Given the description of an element on the screen output the (x, y) to click on. 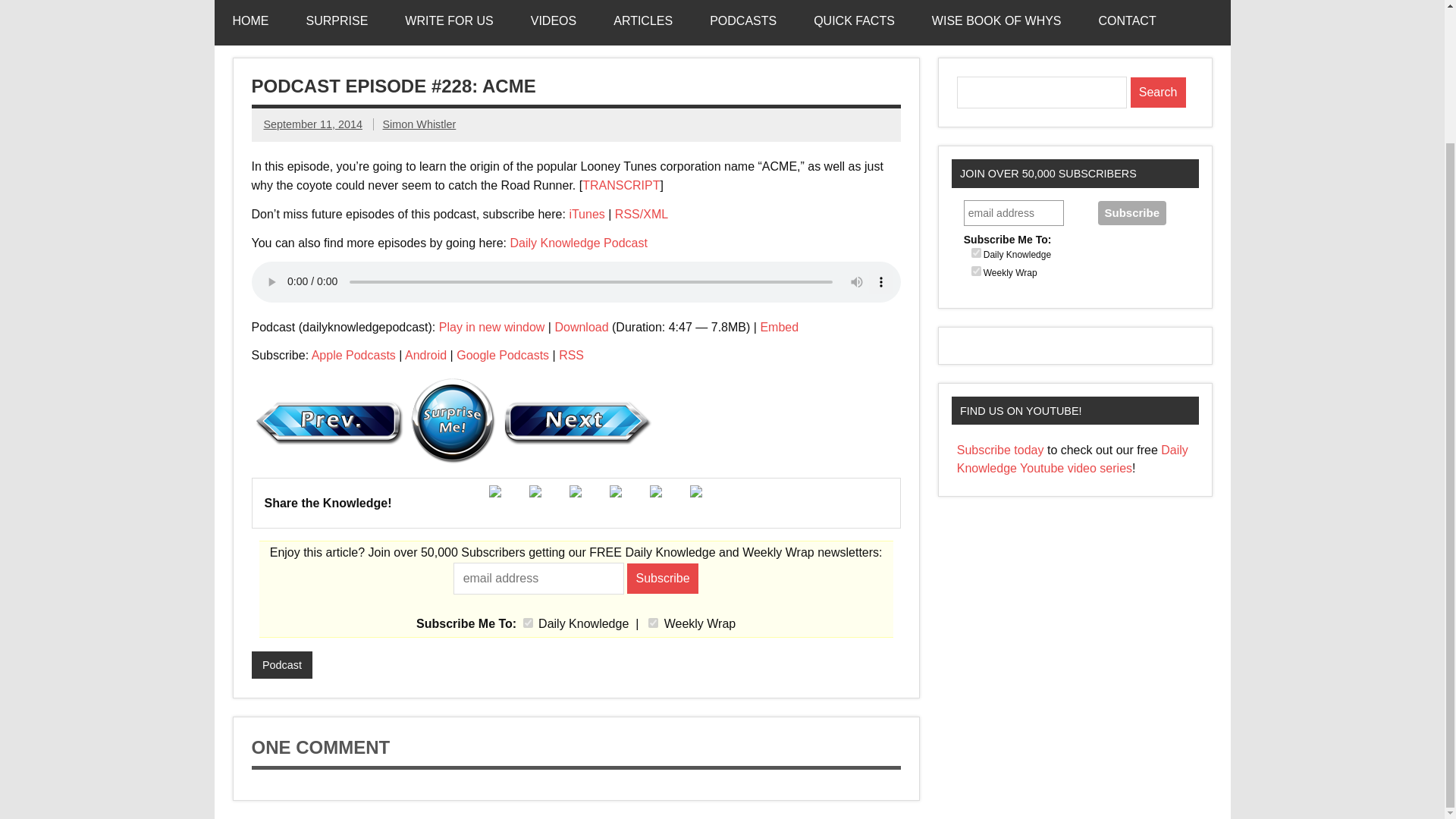
View all posts by Simon Whistler (419, 123)
Play in new window (491, 327)
1 (527, 623)
PODCASTS (742, 22)
Search (1158, 91)
QUICK FACTS (853, 22)
1 (976, 252)
ARTICLES (642, 22)
WISE BOOK OF WHYS (997, 22)
Subscribe (1131, 212)
